Given the description of an element on the screen output the (x, y) to click on. 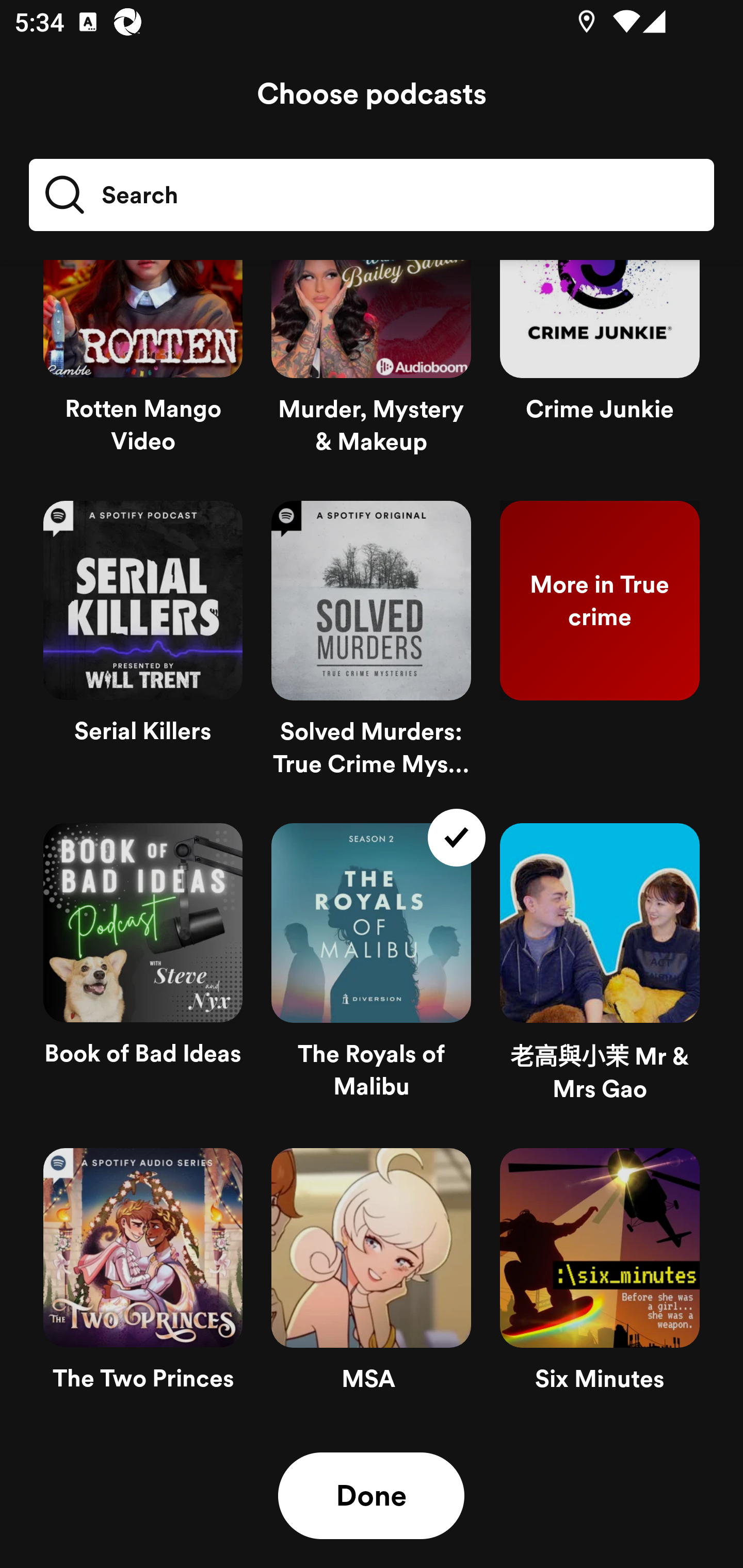
Search (371, 195)
Search (110, 195)
Rotten Mango Video unselected Rotten Mango Video (142, 373)
Crime Junkie unselected Crime Junkie (599, 373)
Serial Killers unselected Serial Killers (142, 647)
More in True crime (599, 647)
Book of Bad Ideas unselected Book of Bad Ideas (142, 971)
The Royals of Malibu selected The Royals of Malibu (371, 971)
老高與小茉 Mr & Mrs Gao unselected 老高與小茉 Mr & Mrs Gao (599, 971)
The Two Princes unselected The Two Princes (142, 1278)
MSA  unselected MSA  (371, 1278)
Six Minutes unselected Six Minutes (599, 1278)
Done (370, 1495)
